Given the description of an element on the screen output the (x, y) to click on. 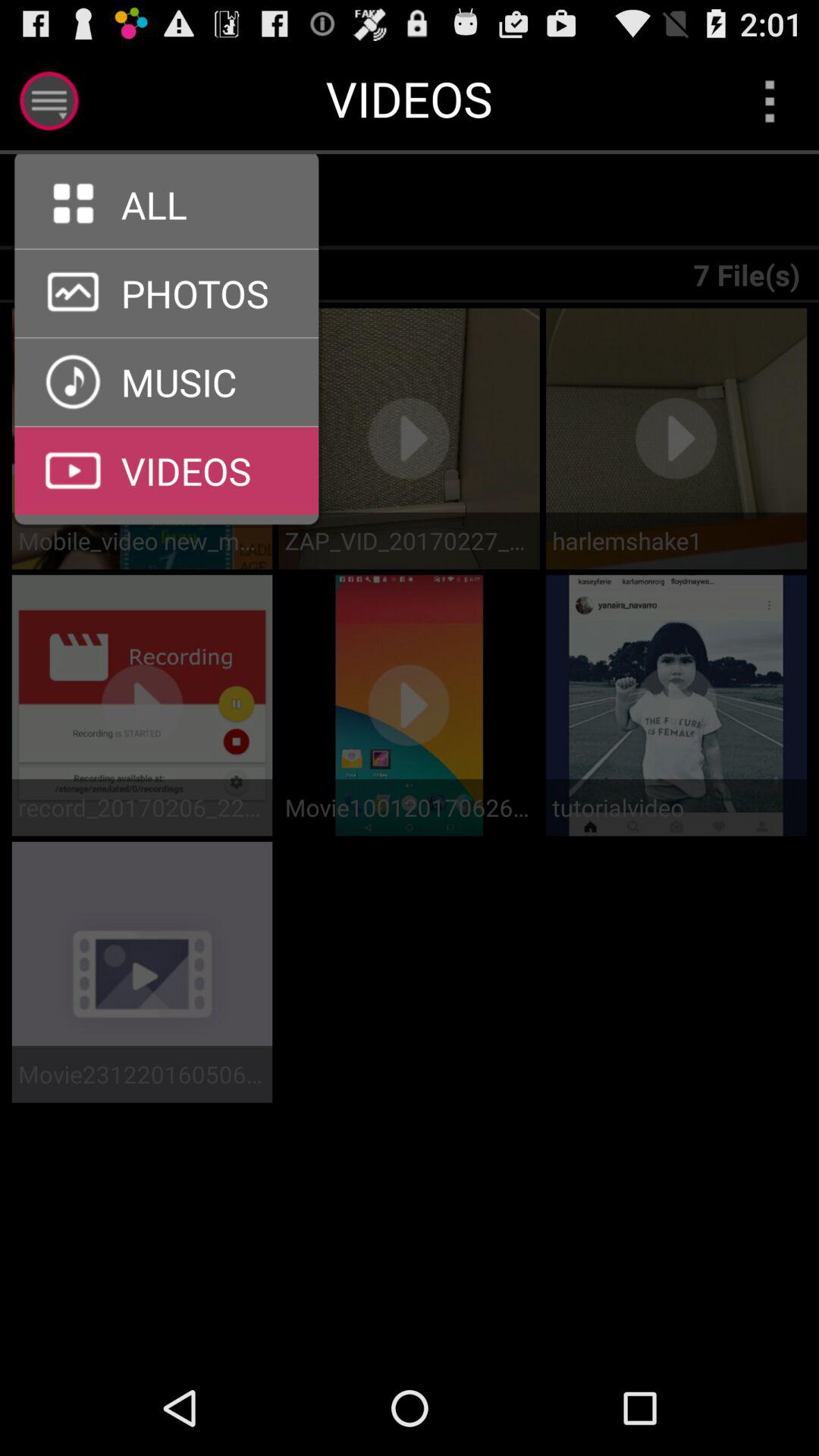
select the harlemshake1 app (676, 540)
